Given the description of an element on the screen output the (x, y) to click on. 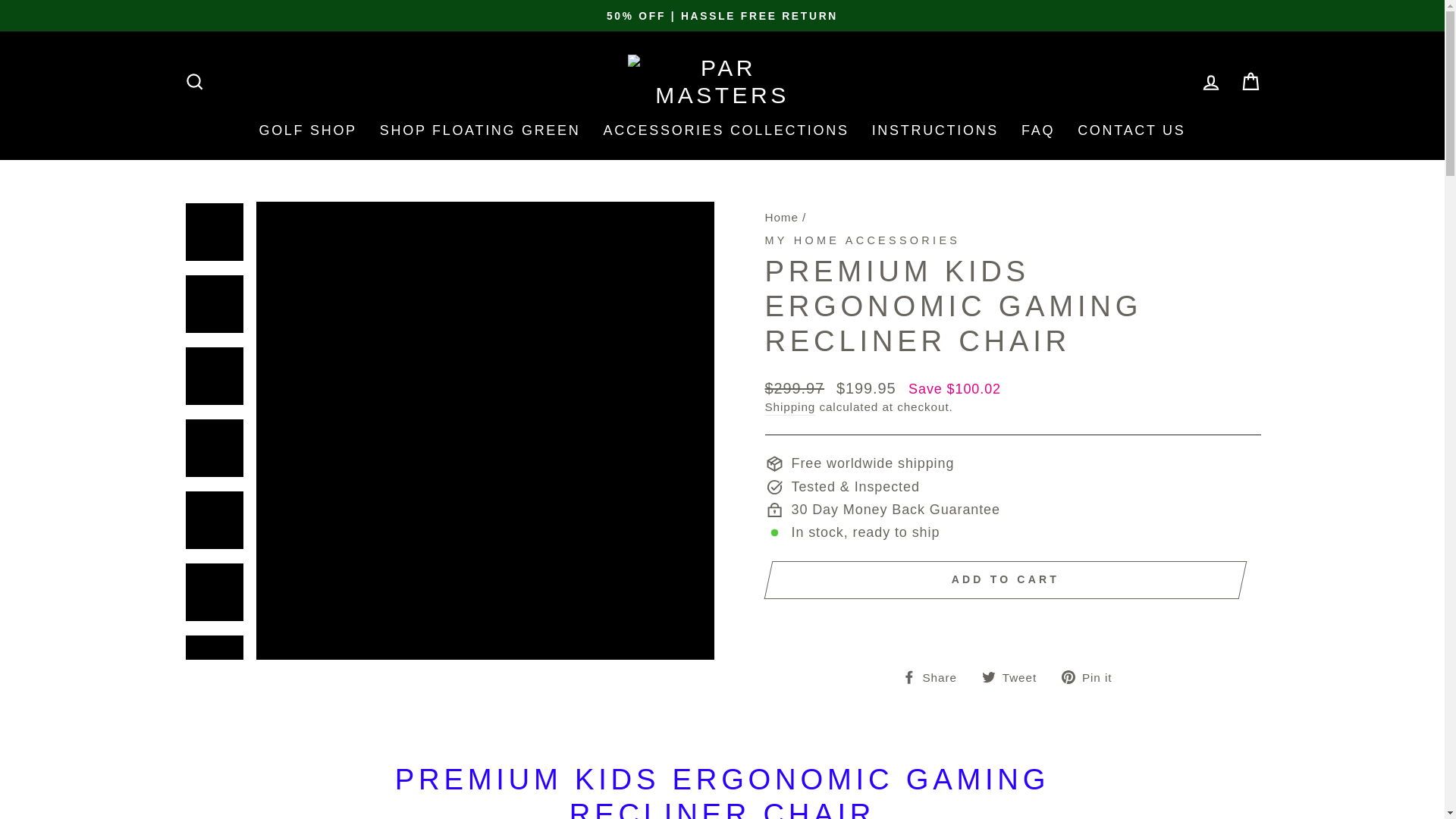
My Home Accessories (861, 240)
Tweet on Twitter (1014, 676)
Share on Facebook (935, 676)
Back to the frontpage (780, 216)
Pin on Pinterest (1091, 676)
